Given the description of an element on the screen output the (x, y) to click on. 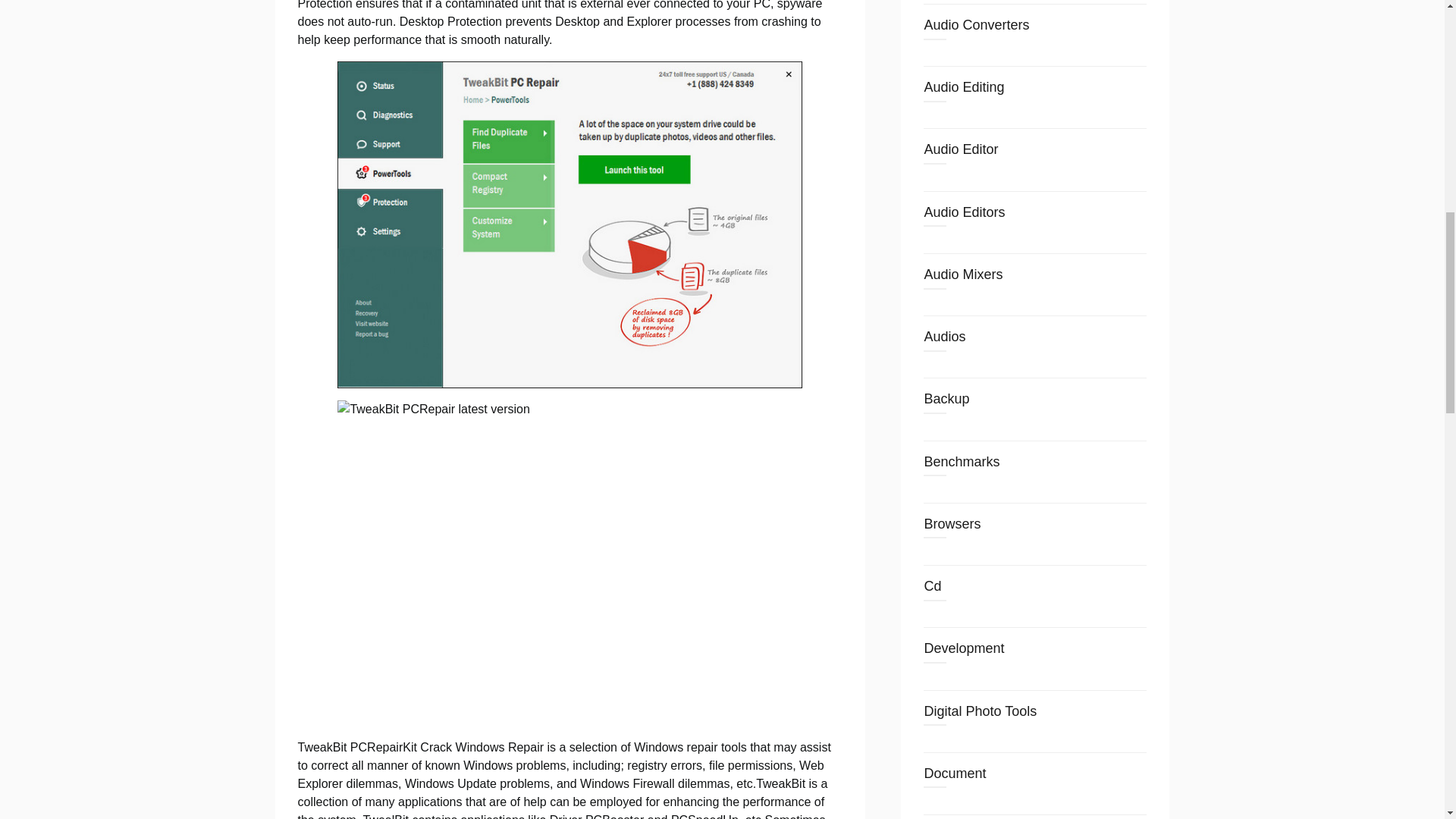
Audio Editing (963, 87)
Browsers (951, 523)
Audio Converters (976, 24)
Audios (944, 336)
Audio Mixers (963, 273)
Benchmarks (960, 461)
Backup (946, 398)
Audio Editor (960, 149)
Audio Editors (963, 212)
